Given the description of an element on the screen output the (x, y) to click on. 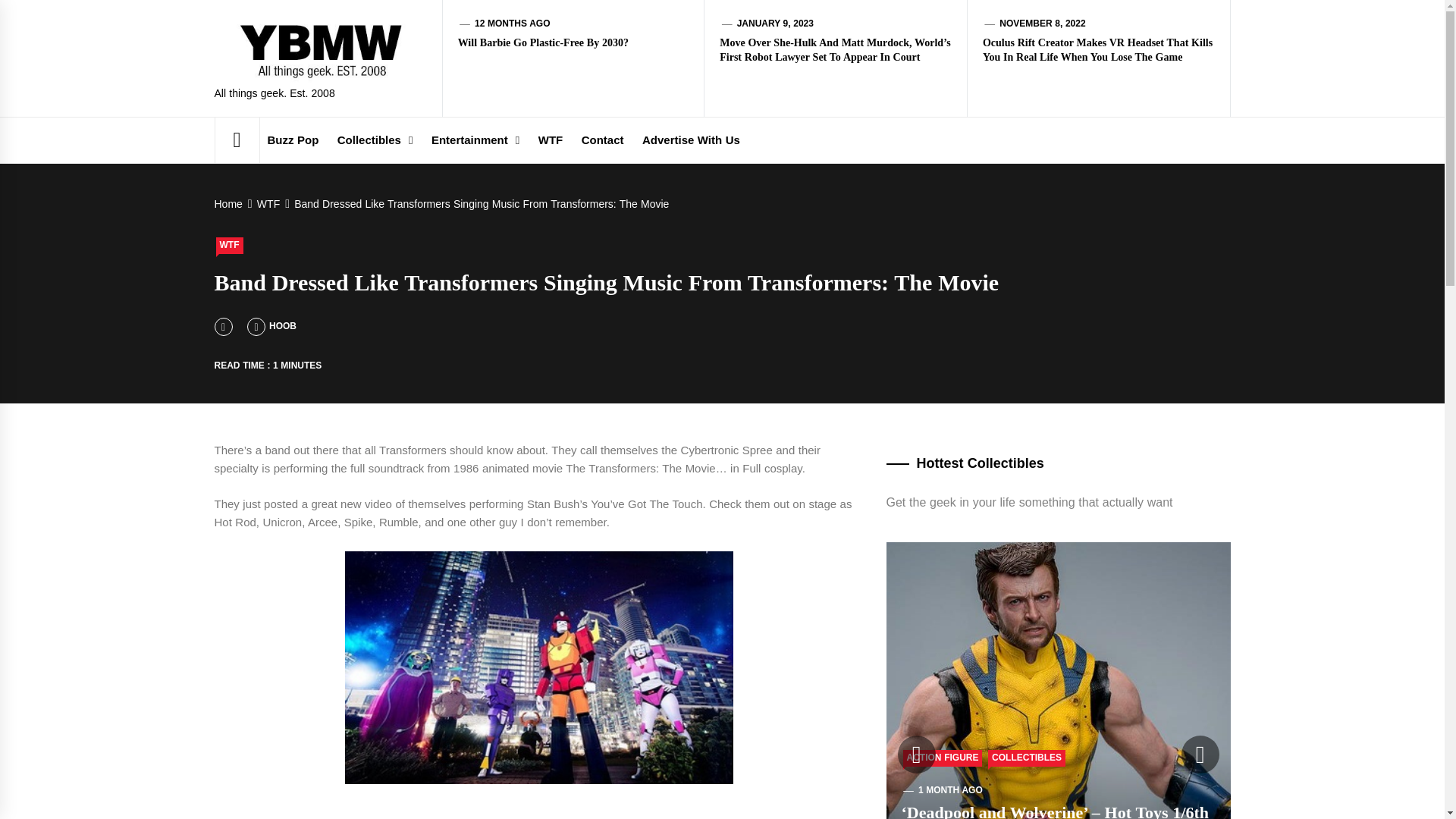
Buzz Pop (292, 139)
Home (230, 203)
YBMW (476, 33)
JANUARY 9, 2023 (774, 23)
HOOB (272, 326)
12 MONTHS AGO (512, 23)
Contact (602, 139)
Collectibles (375, 139)
WTF (229, 245)
Entertainment (475, 139)
NOVEMBER 8, 2022 (1041, 23)
Will Barbie Go Plastic-Free By 2030? (543, 42)
WTF (266, 203)
Advertise With Us (691, 139)
